Given the description of an element on the screen output the (x, y) to click on. 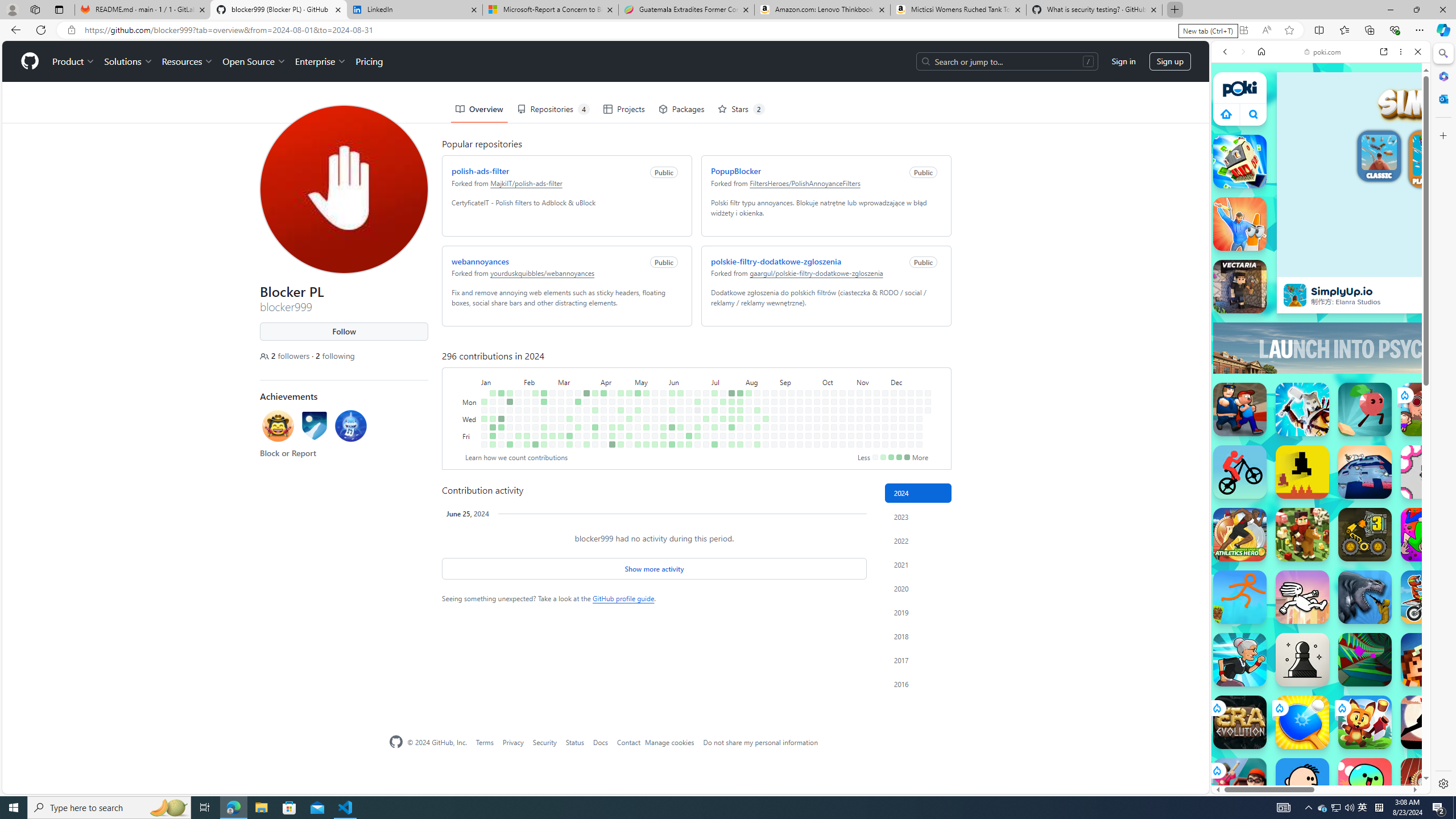
No contributions on July 20th. (723, 444)
Achievement: Quickdraw (278, 425)
No contributions on June 5th. (671, 418)
No contributions on November 4th. (859, 401)
No contributions on September 26th. (807, 427)
FiltersHeroes/PolishAnnoyanceFilters (804, 182)
Tunnel Rush Tunnel Rush (1364, 659)
3 contributions on March 16th. (569, 444)
7 contributions on July 28th. (740, 392)
Poor Eddie (1302, 784)
Level Devil (1302, 471)
The Speed Ninja (1427, 722)
Shooting Games (1320, 295)
No contributions on March 29th. (586, 435)
